Given the description of an element on the screen output the (x, y) to click on. 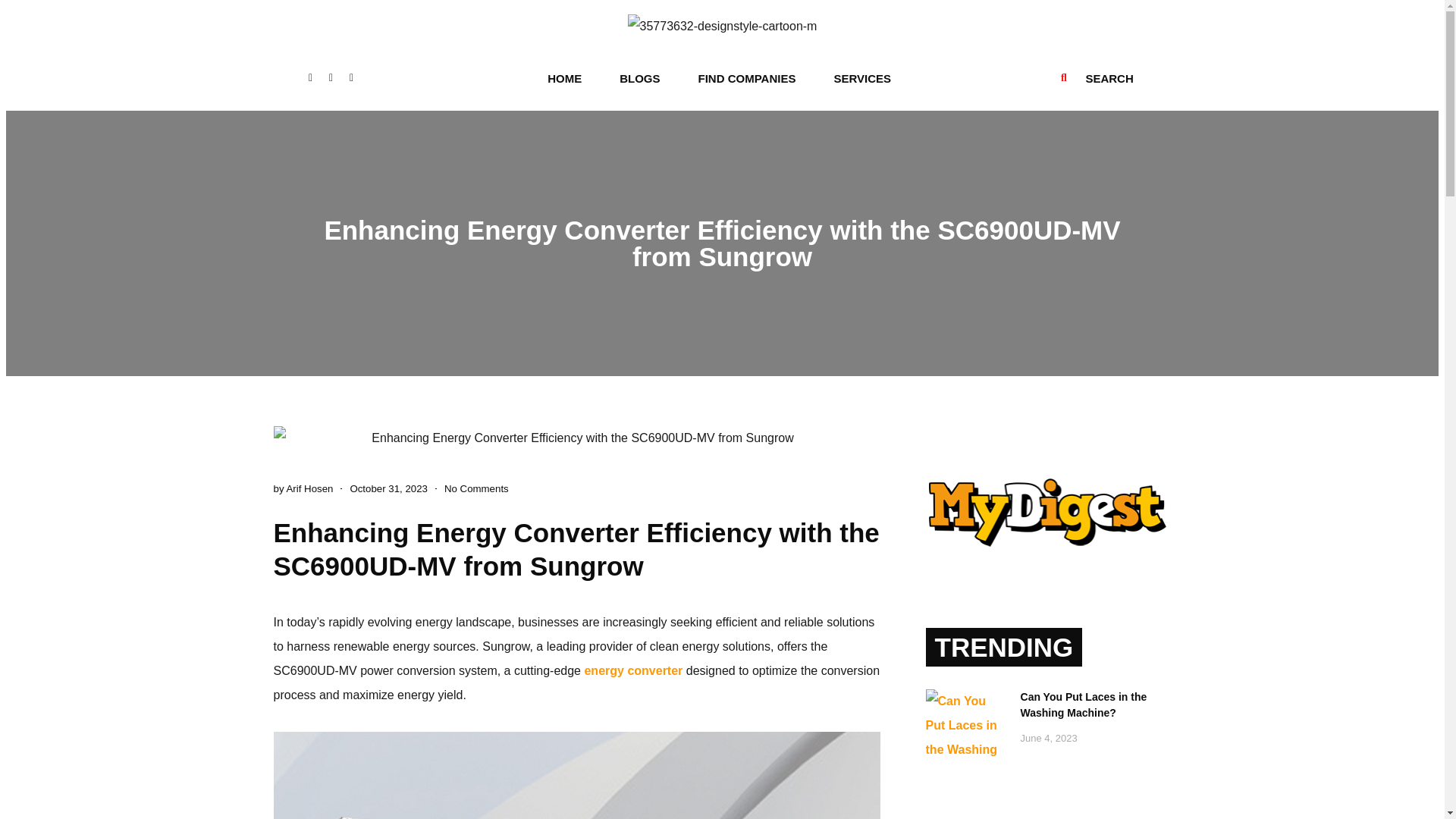
35773632-designstyle-cartoon-m (721, 26)
SERVICES (861, 78)
FIND COMPANIES (747, 78)
HOME (563, 78)
BLOGS (638, 78)
